Given the description of an element on the screen output the (x, y) to click on. 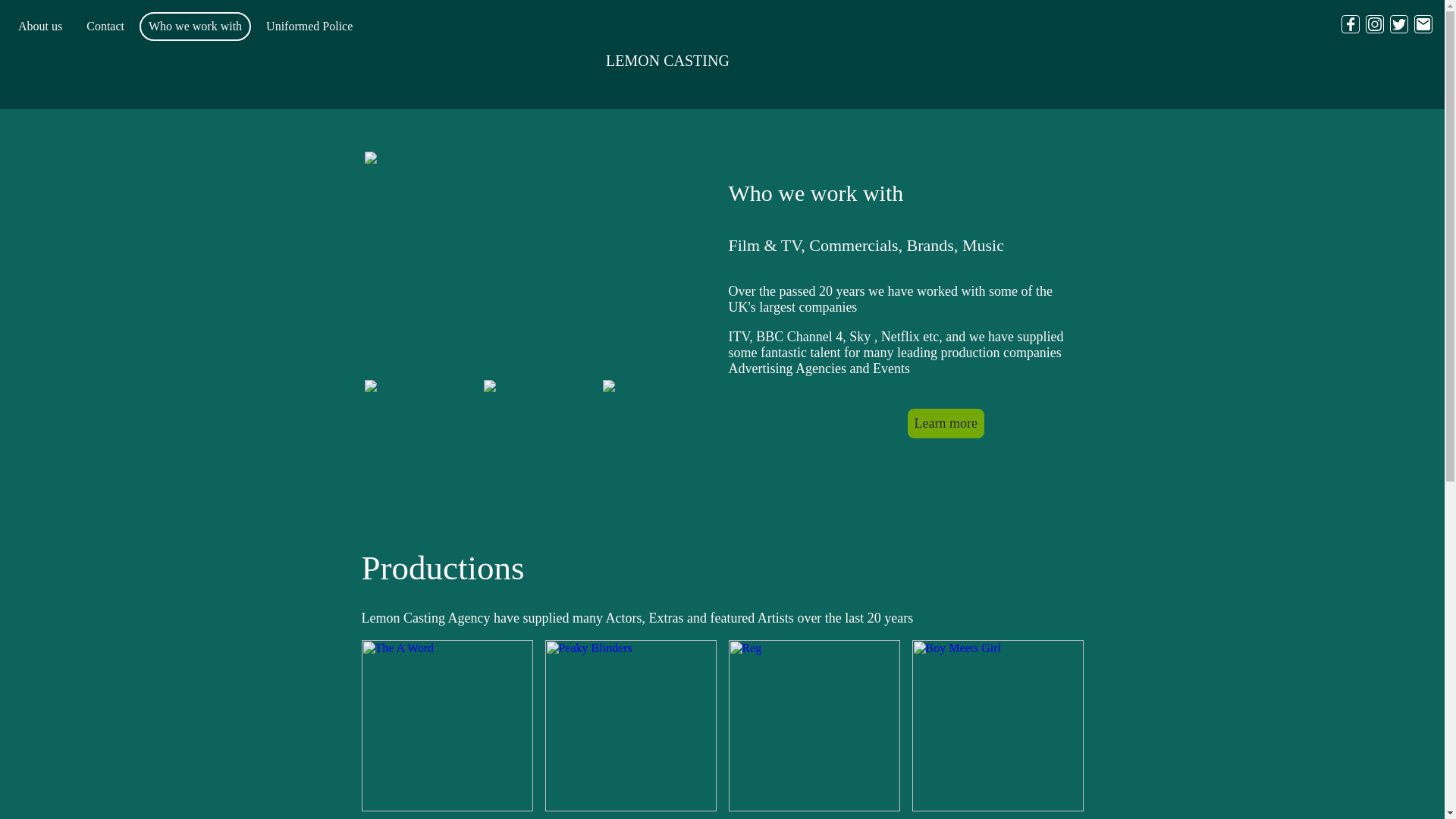
LEMON CASTING (721, 54)
Learn more (945, 423)
Contact (105, 26)
The A Word (446, 725)
About us (39, 26)
Who we work with (194, 26)
Peaky Blinders (630, 725)
Boy Meets Girl (997, 725)
Reg (813, 725)
Uniformed Police (309, 26)
